Given the description of an element on the screen output the (x, y) to click on. 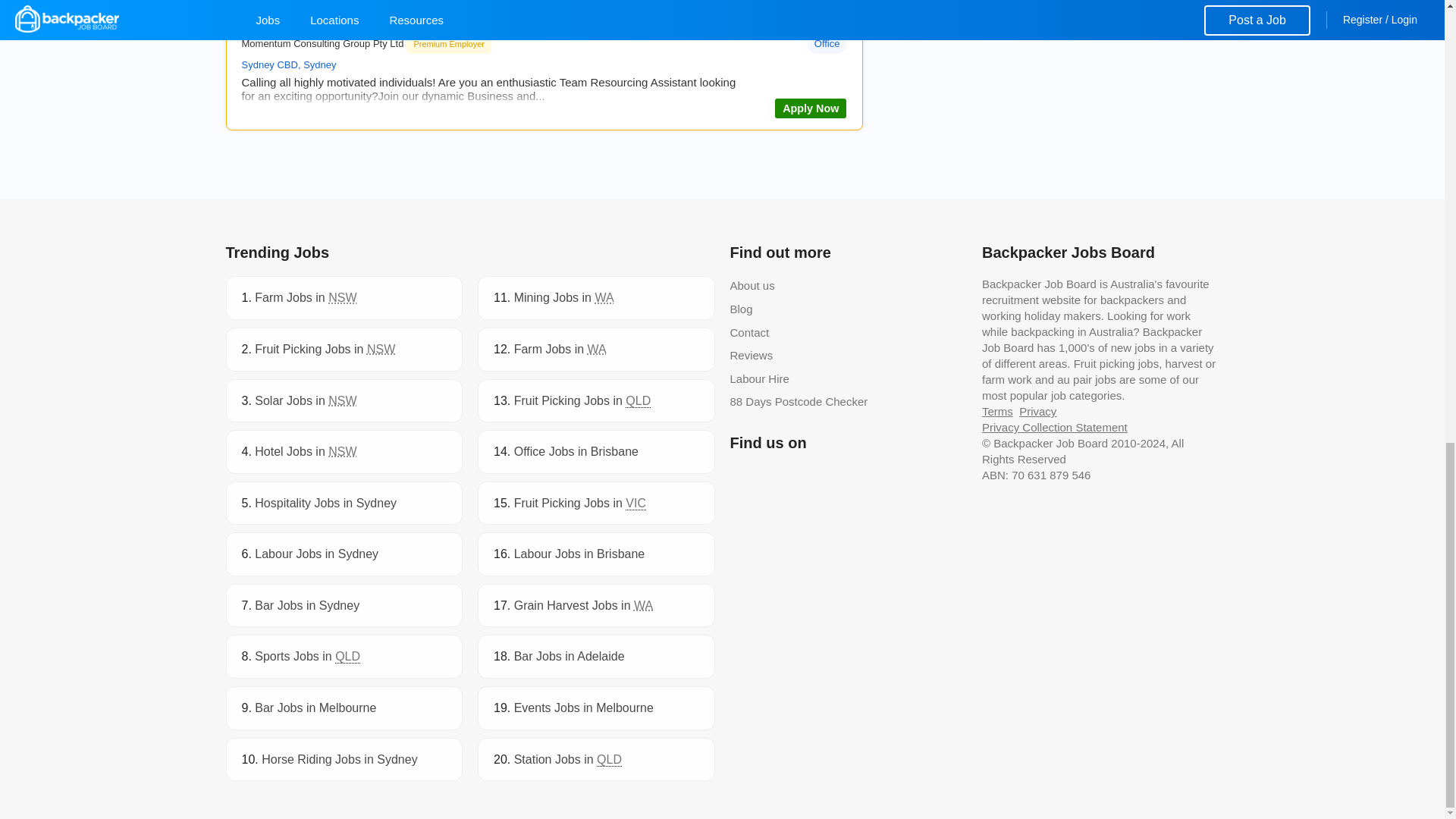
Recruitment Resoucer - White Collar (373, 22)
Recruitment Resoucer - White Collar (373, 22)
Recruitment Resoucer - White Collar (809, 107)
Apply Now (809, 107)
Fruit Picking Jobs in NSW (324, 349)
Farm Jobs in NSW (305, 297)
